Given the description of an element on the screen output the (x, y) to click on. 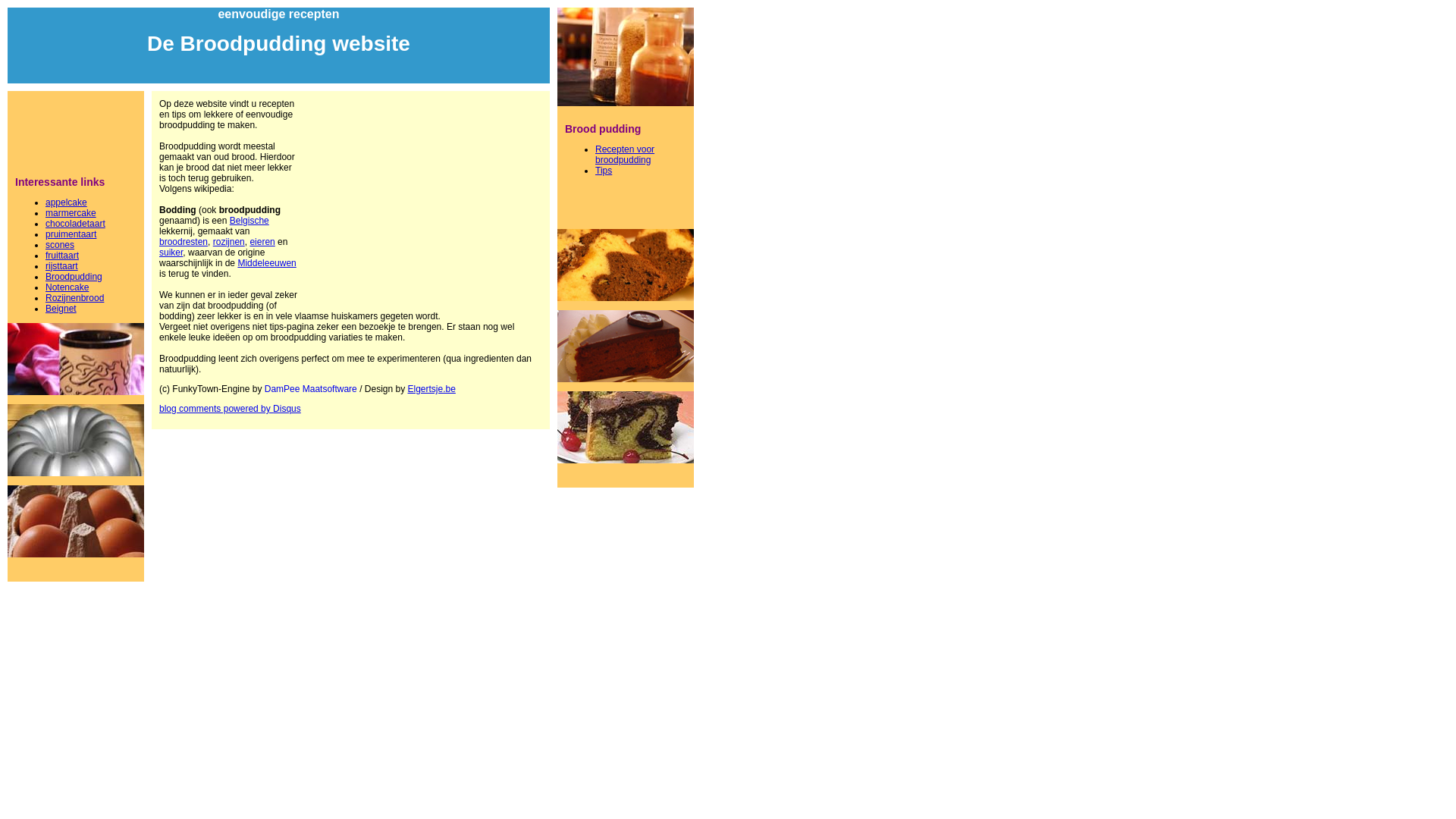
rozijnen Element type: text (228, 241)
Broodpudding Element type: text (73, 276)
suiker Element type: text (170, 252)
rijsttaart Element type: text (61, 265)
Recepten voor broodpudding Element type: text (624, 154)
Middeleeuwen Element type: text (266, 262)
fruittaart Element type: text (61, 255)
Notencake Element type: text (66, 287)
DamPee Maatsoftware Element type: text (310, 388)
Tips Element type: text (603, 170)
scones Element type: text (59, 244)
Rozijnenbrood Element type: text (74, 297)
blog comments powered by Disqus Element type: text (230, 408)
eieren Element type: text (261, 241)
Beignet Element type: text (60, 308)
Elgertsje.be Element type: text (431, 388)
broodresten Element type: text (183, 241)
Advertisement Element type: hover (75, 132)
chocoladetaart Element type: text (75, 223)
Belgische Element type: text (249, 220)
Advertisement Element type: hover (420, 200)
pruimentaart Element type: text (70, 234)
marmercake Element type: text (70, 212)
appelcake Element type: text (66, 202)
